Given the description of an element on the screen output the (x, y) to click on. 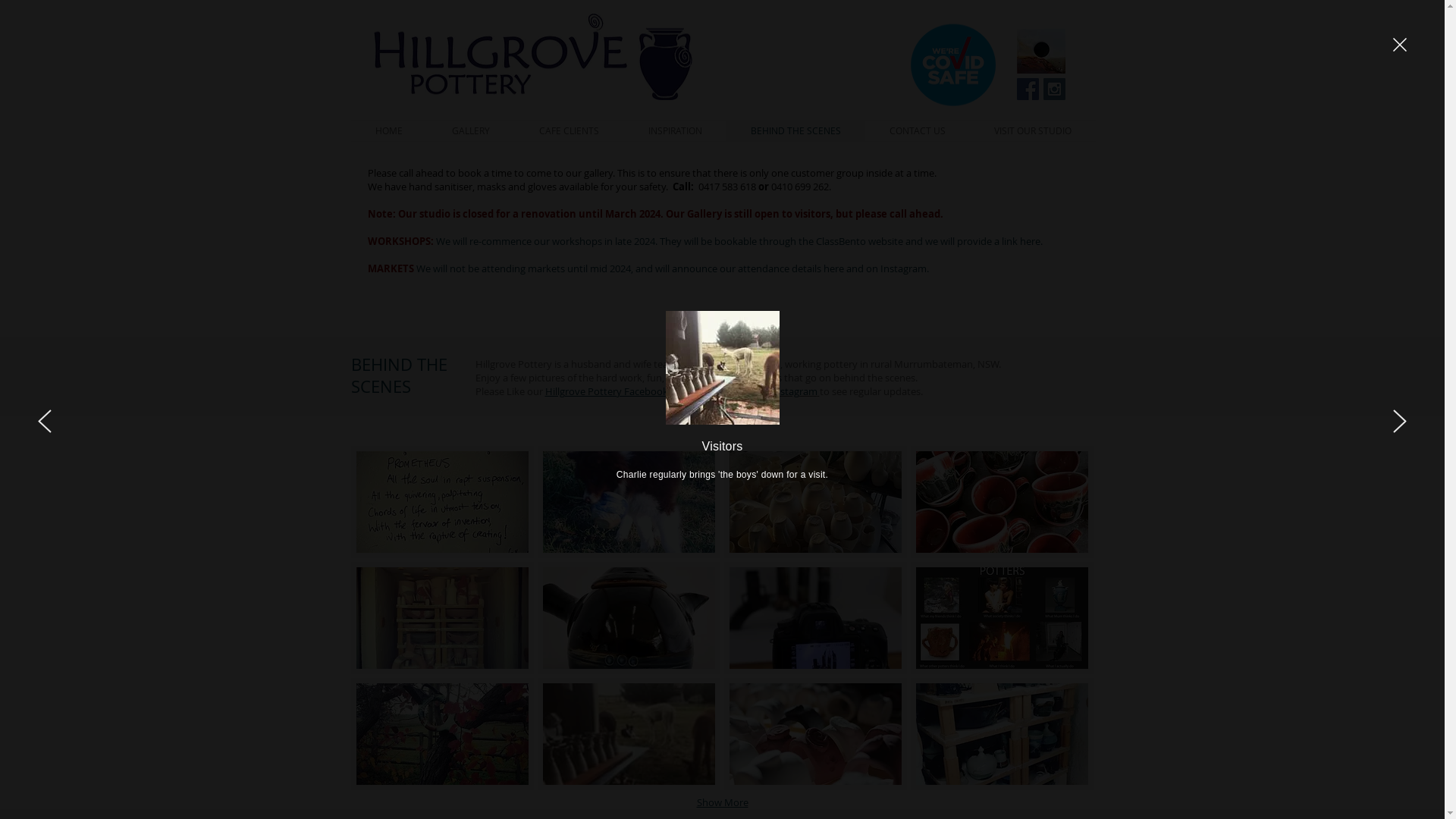
CONTACT US Element type: text (916, 129)
GALLERY Element type: text (470, 129)
CAFE CLIENTS Element type: text (568, 129)
HOME Element type: text (388, 129)
Show More Element type: text (721, 802)
BEHIND THE SCENES Element type: text (795, 129)
Hillgrove Pottery Facebook Element type: text (606, 391)
VISIT OUR STUDIO Element type: text (1032, 129)
INSPIRATION Element type: text (674, 129)
Instagram  Element type: text (794, 391)
egg close3.jpg Element type: hover (532, 56)
Follow us on Facebook and Instagram Element type: hover (1040, 50)
egg close3.jpg Element type: hover (952, 64)
